Given the description of an element on the screen output the (x, y) to click on. 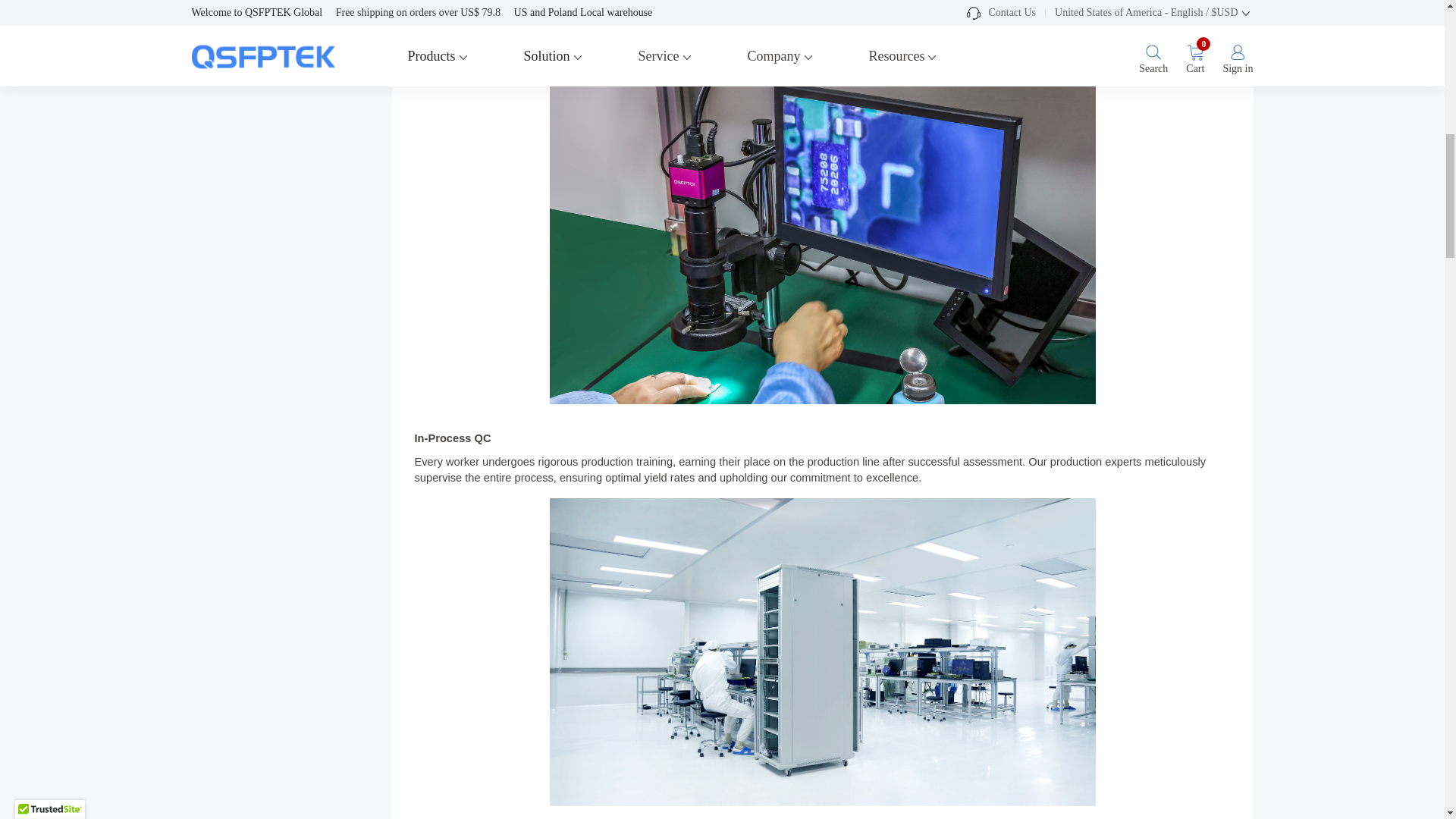
TrustedSite Certified (49, 4)
